Given the description of an element on the screen output the (x, y) to click on. 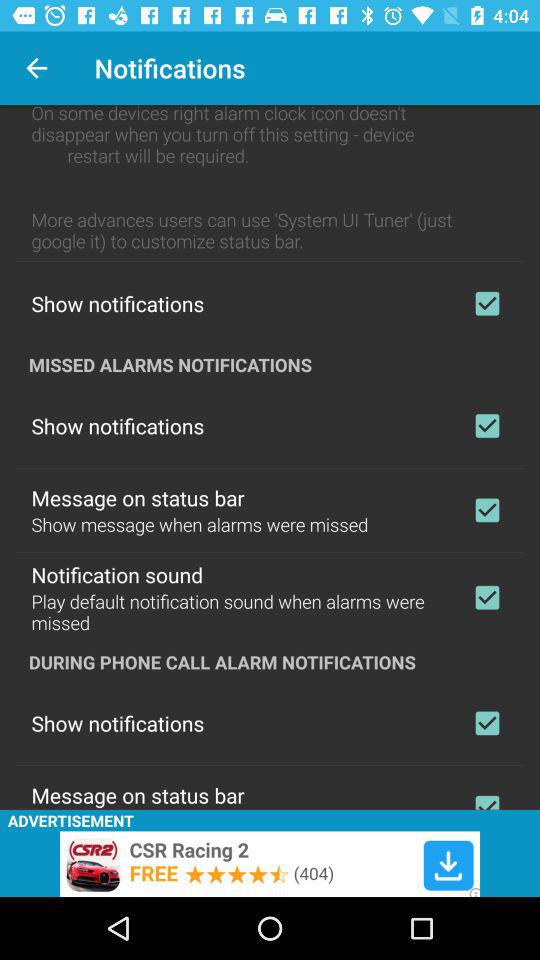
go to select putturn (487, 510)
